Given the description of an element on the screen output the (x, y) to click on. 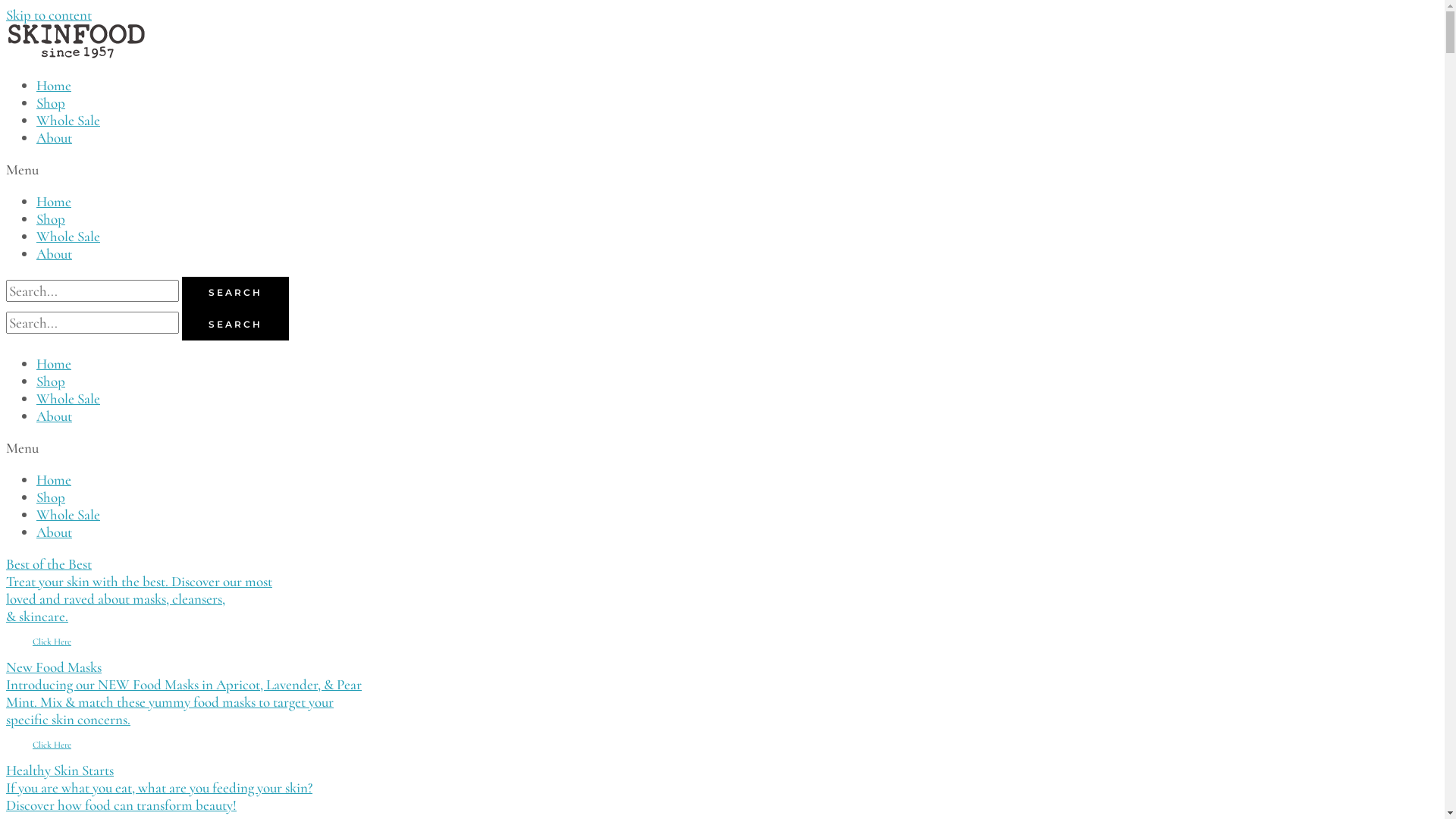
About Element type: text (54, 137)
About Element type: text (54, 531)
Home Element type: text (53, 201)
Whole Sale Element type: text (68, 235)
SEARCH Element type: text (235, 324)
Whole Sale Element type: text (68, 398)
Home Element type: text (53, 85)
Home Element type: text (53, 363)
About Element type: text (54, 415)
Search Element type: hover (92, 290)
Search Element type: hover (92, 322)
About Element type: text (54, 253)
Skip to content Element type: text (48, 14)
Shop Element type: text (50, 218)
Whole Sale Element type: text (68, 514)
SEARCH Element type: text (235, 292)
Home Element type: text (53, 479)
Shop Element type: text (50, 496)
Whole Sale Element type: text (68, 119)
Shop Element type: text (50, 380)
Shop Element type: text (50, 102)
